Given the description of an element on the screen output the (x, y) to click on. 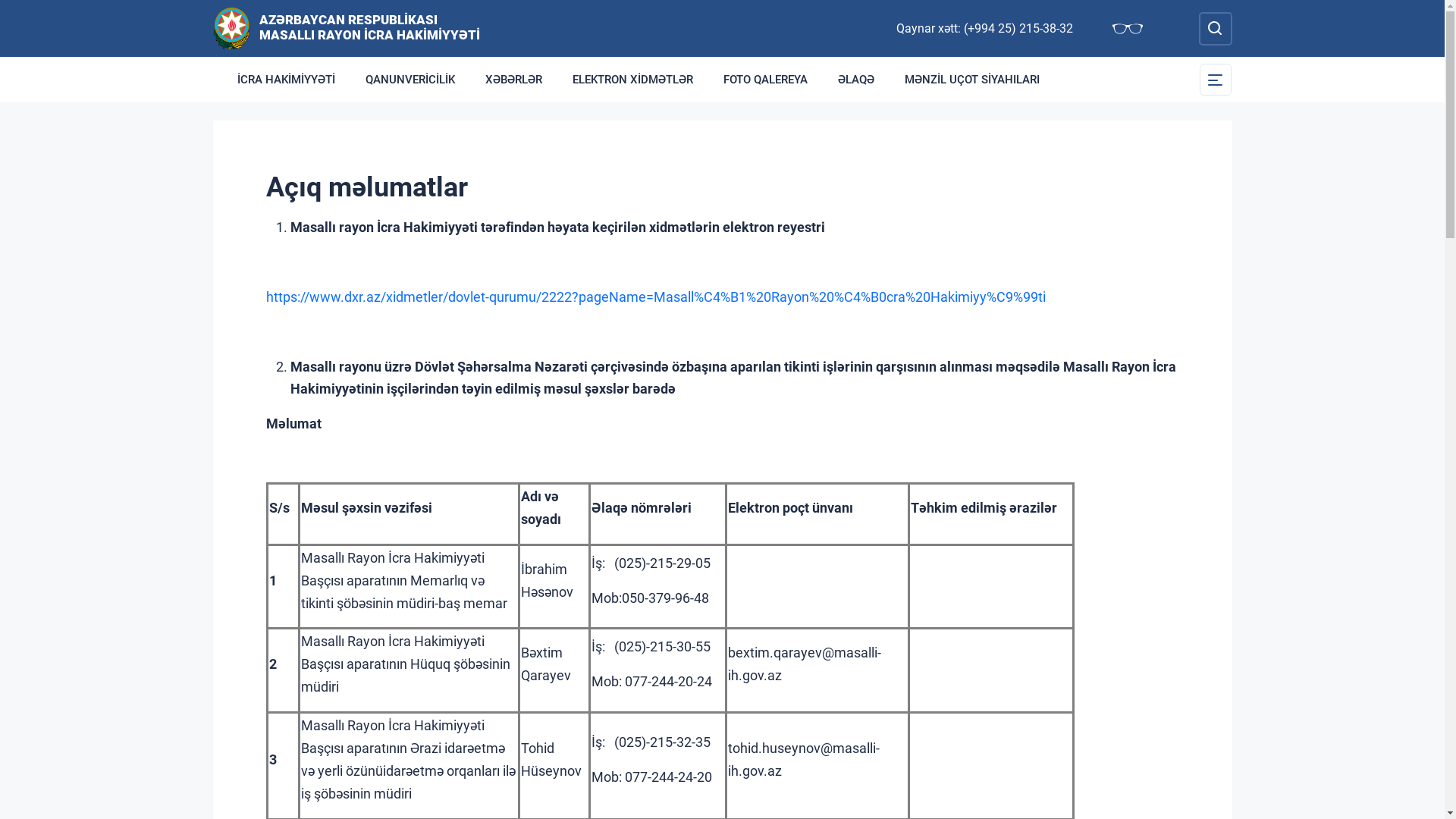
QANUNVERICILIK Element type: text (410, 79)
FOTO QALEREYA Element type: text (765, 79)
